Given the description of an element on the screen output the (x, y) to click on. 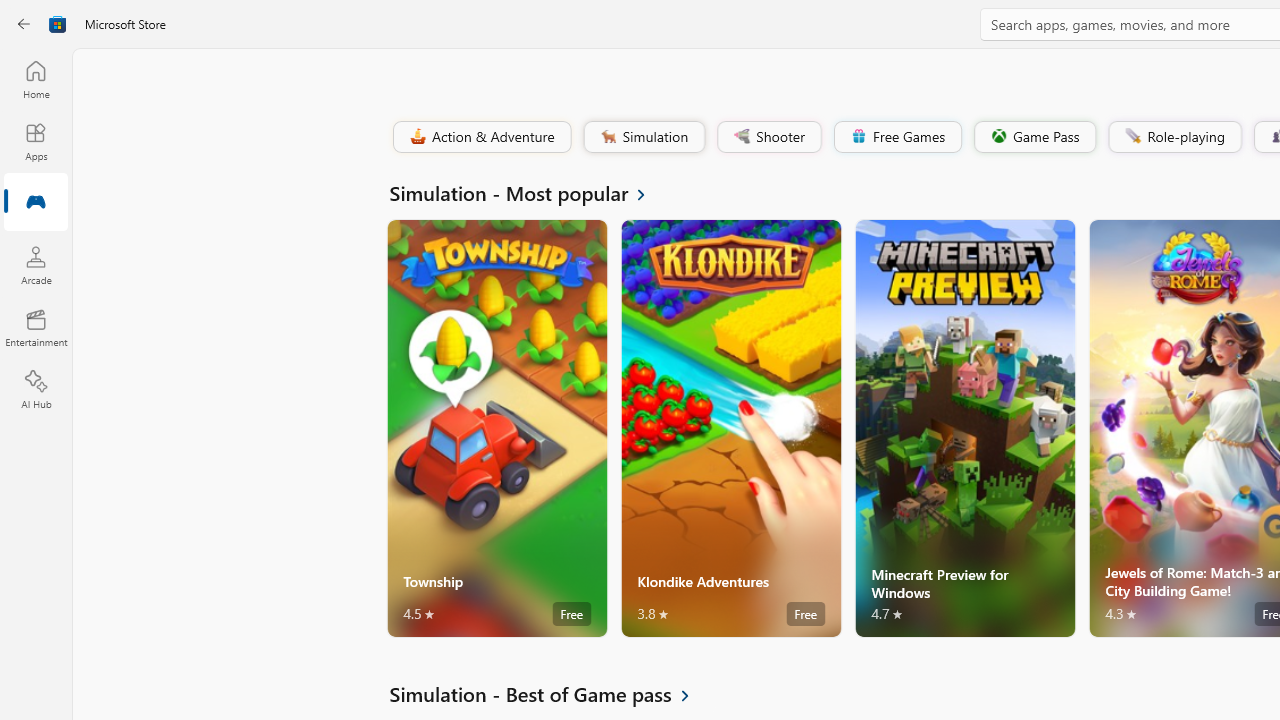
Action & Adventure (480, 136)
Class: Image (1132, 136)
Township. Average rating of 4.5 out of five stars. Free   (497, 427)
Back (24, 24)
Shooter (767, 136)
Home (35, 79)
Simulation (643, 136)
See all  Simulation - Most popular (528, 192)
Arcade (35, 265)
See all  Simulation - Best of Game pass (551, 693)
Apps (35, 141)
Gaming (35, 203)
AI Hub (35, 390)
Role-playing (1174, 136)
